Given the description of an element on the screen output the (x, y) to click on. 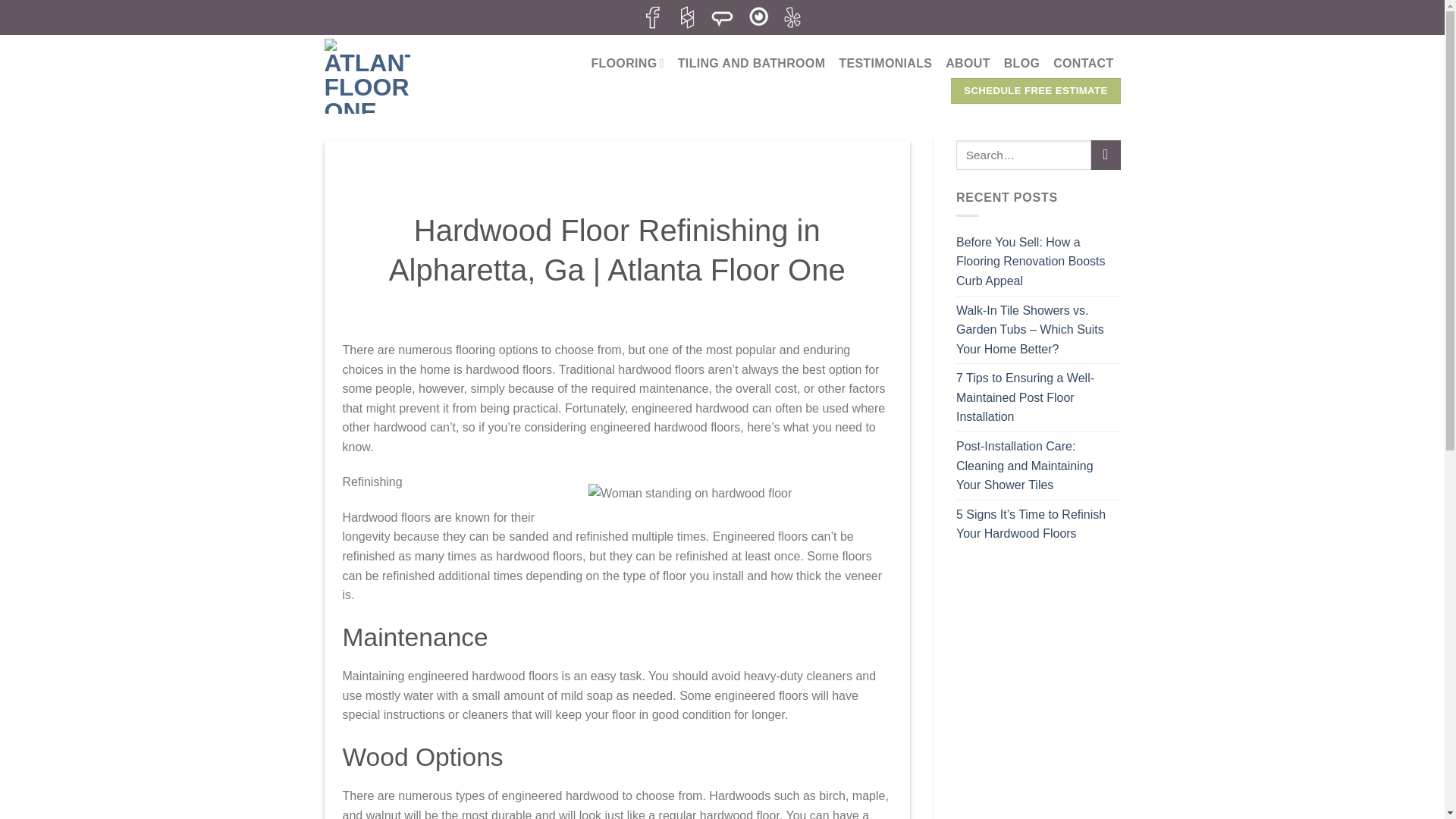
SCHEDULE FREE ESTIMATE (1034, 90)
TESTIMONIALS (884, 62)
FLOORING (627, 62)
Engineered hardwood floor installation in Alpharetta (739, 585)
CONTACT (1082, 62)
7 Tips to Ensuring a Well-Maintained Post Floor Installation (1038, 397)
BLOG (1022, 62)
